Given the description of an element on the screen output the (x, y) to click on. 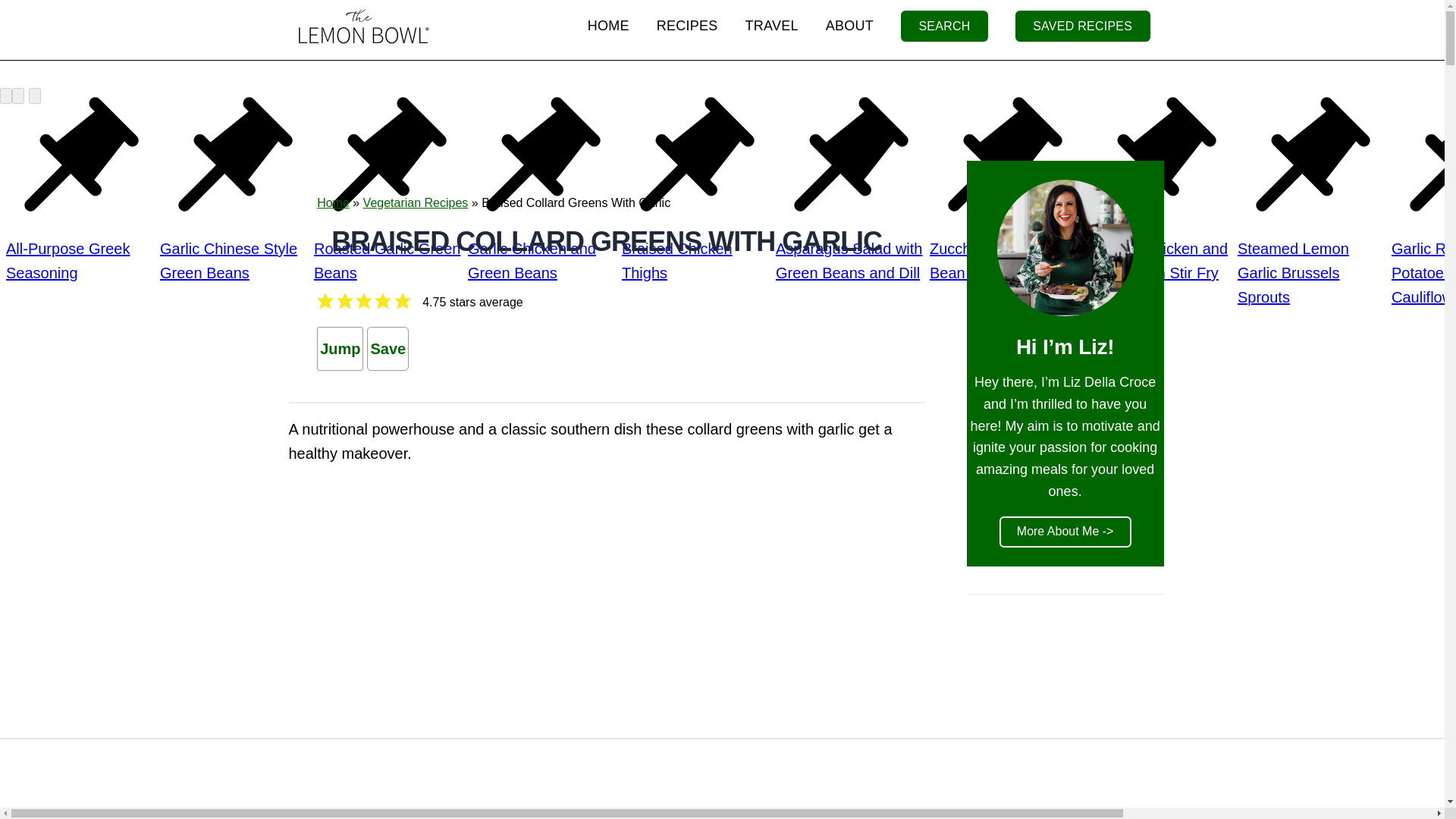
TRAVEL (771, 25)
Save (387, 348)
Foodie Travel (771, 25)
Jump (339, 348)
RECIPES (686, 25)
SEARCH (944, 25)
Recipe Index (686, 25)
ABOUT (849, 25)
Vegetarian Recipes (415, 202)
Jump (339, 348)
Home (333, 202)
SAVED RECIPES (1082, 25)
Homepage (608, 25)
HOME (608, 25)
About Liz (849, 25)
